Given the description of an element on the screen output the (x, y) to click on. 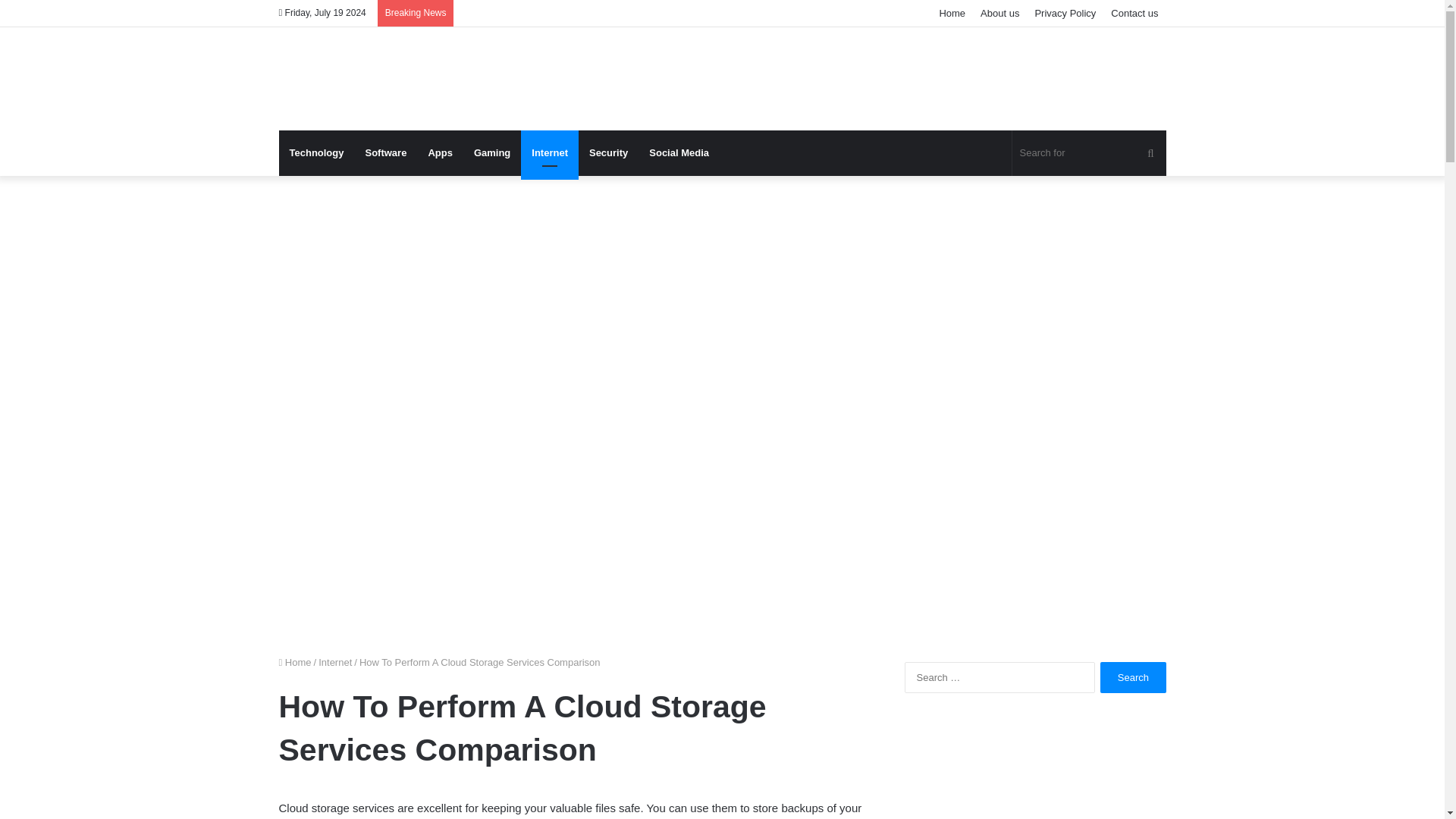
Home (295, 662)
Software (384, 153)
Social Media (679, 153)
Apps (439, 153)
About us (999, 13)
Search (1133, 676)
Contact us (1134, 13)
Internet (549, 153)
Gaming (492, 153)
Search for (1088, 153)
Security (608, 153)
Search (1133, 676)
Home (951, 13)
Advertisement (1035, 775)
Internet (335, 662)
